Given the description of an element on the screen output the (x, y) to click on. 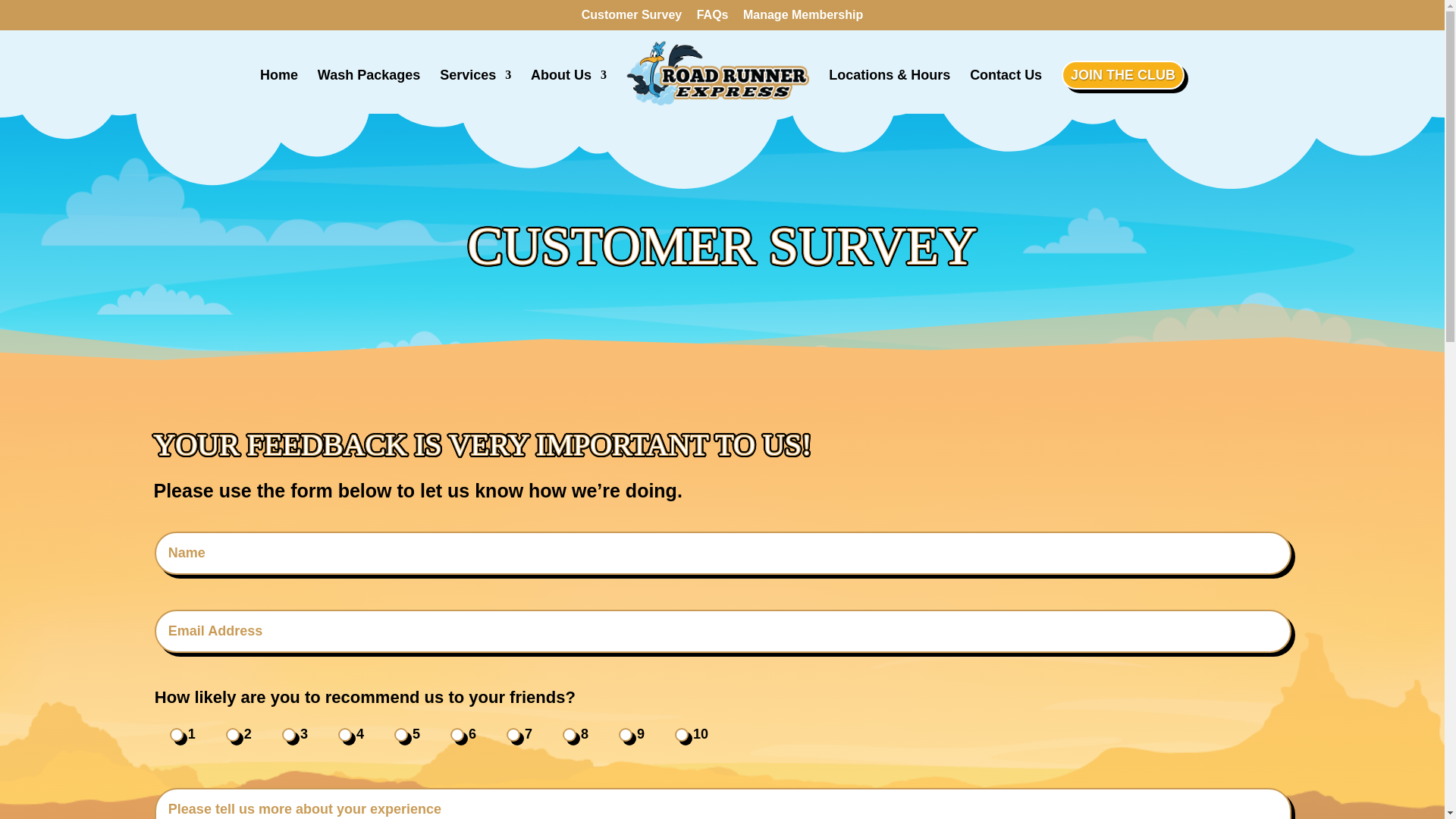
FAQs (713, 19)
Manage Membership (802, 19)
About Us (569, 91)
Customer Survey (631, 19)
Wash Packages (368, 91)
JOIN THE CLUB (1125, 74)
Contact Us (1005, 91)
Services (475, 91)
